Given the description of an element on the screen output the (x, y) to click on. 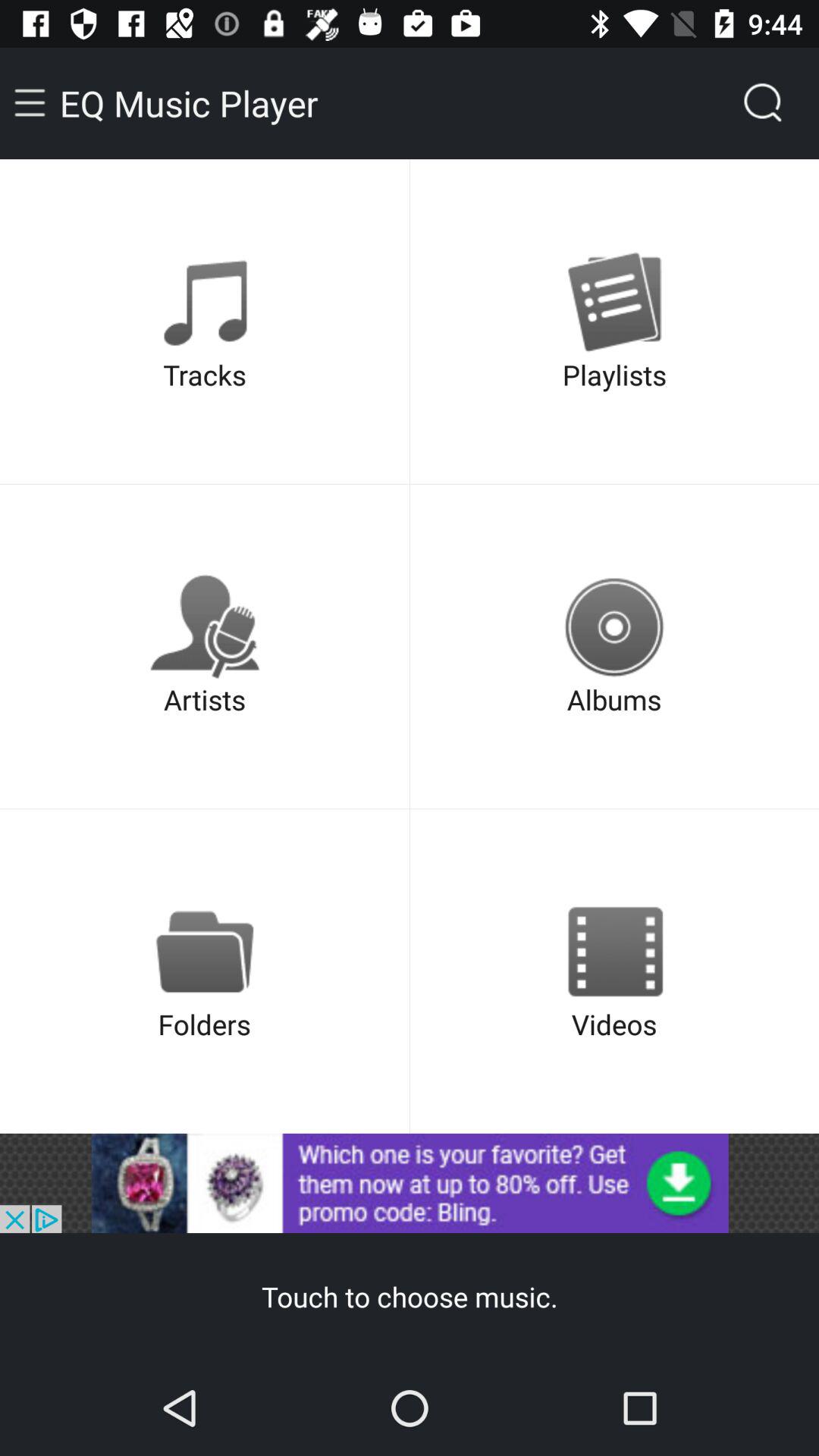
open this advertisement (409, 1183)
